Given the description of an element on the screen output the (x, y) to click on. 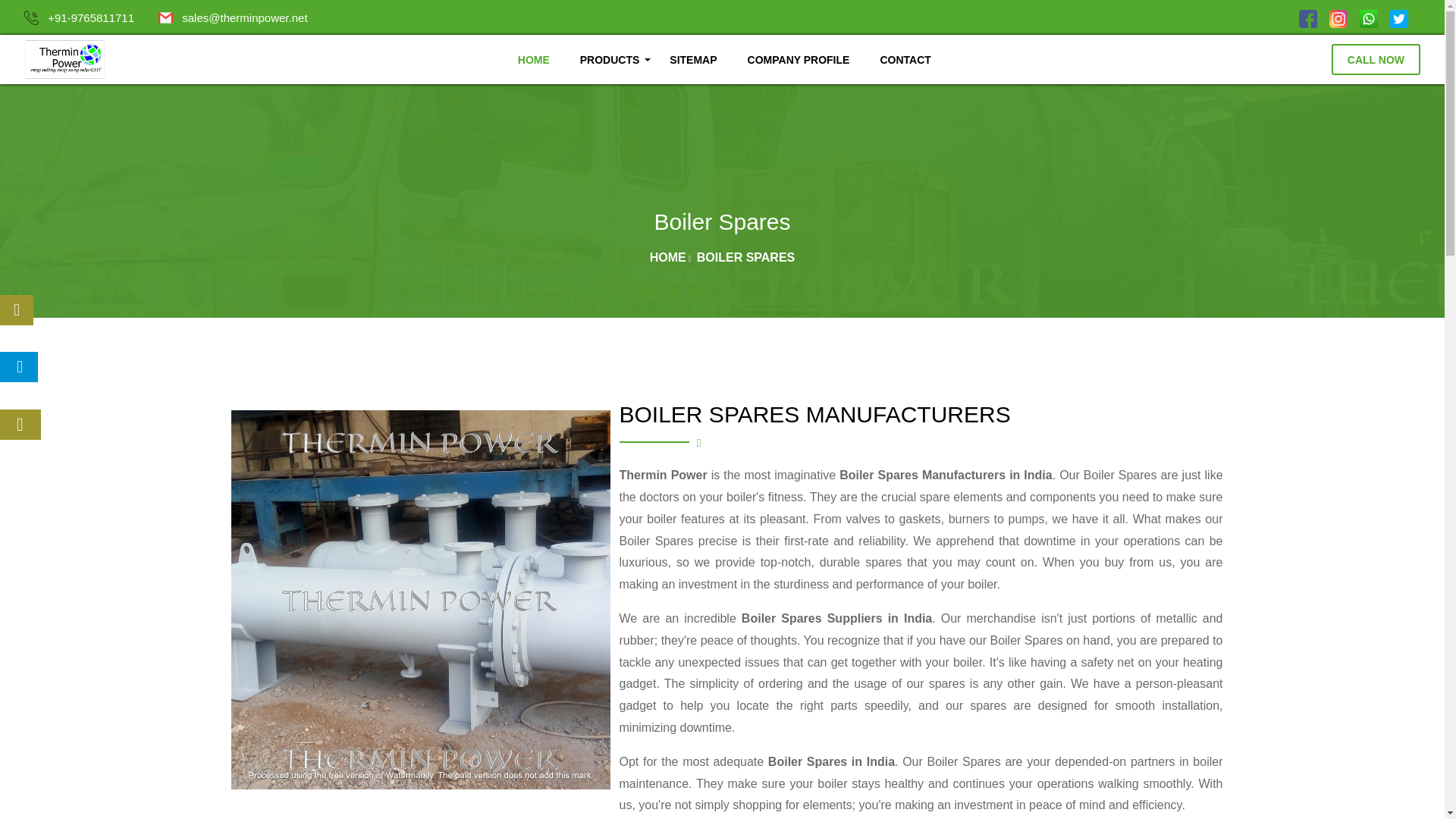
COMPANY PROFILE (798, 59)
CALL NOW (1376, 59)
CONTACT (904, 59)
Whatsapp (1368, 18)
Thermin Power (64, 59)
Facebook (1307, 18)
Twitter (1398, 18)
SITEMAP (692, 59)
HOME (533, 59)
